Given the description of an element on the screen output the (x, y) to click on. 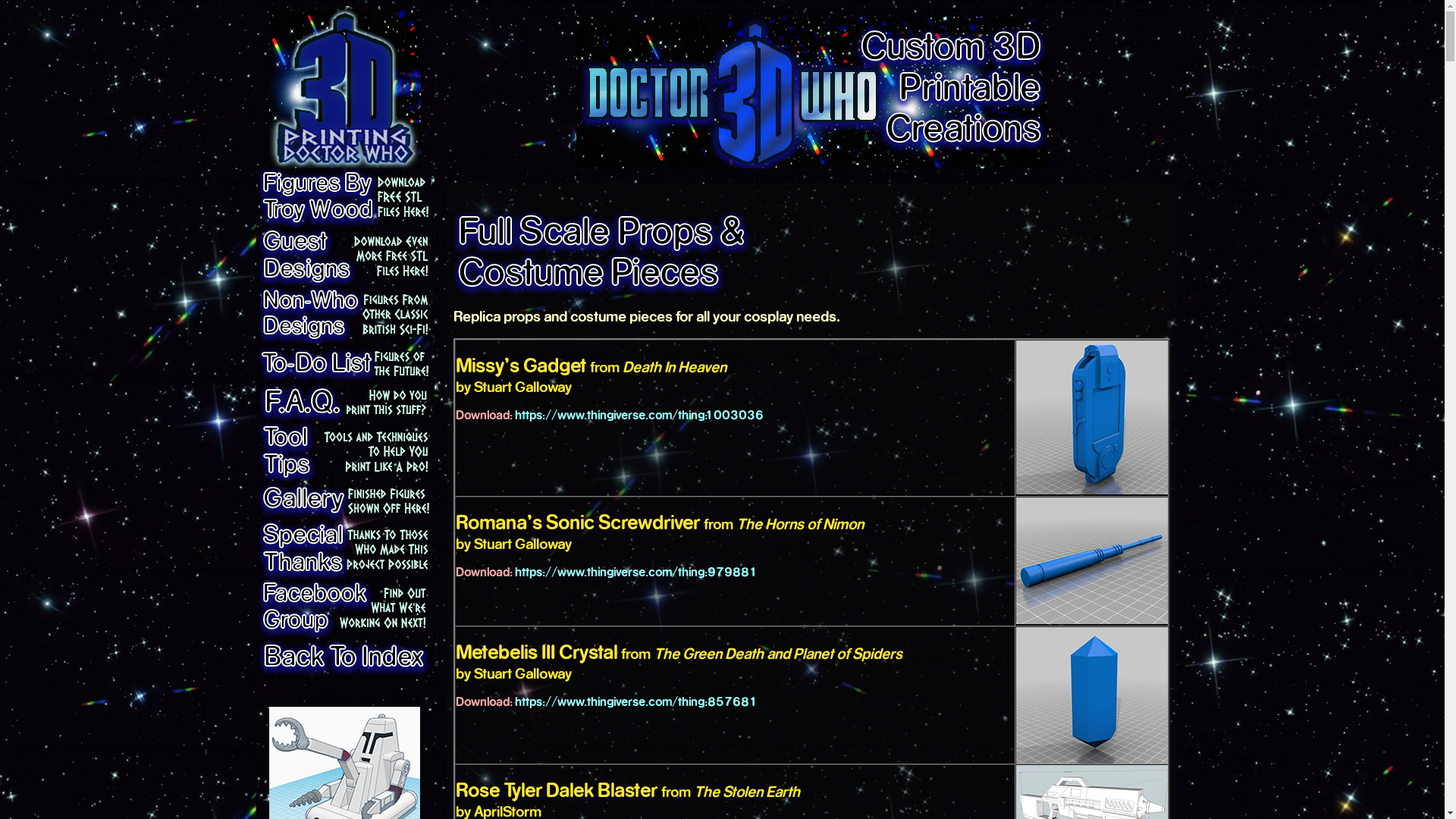
https://www.thingiverse.com/thing:857681 Element type: text (635, 701)
https://www.thingiverse.com/thing:979881 Element type: text (635, 571)
https://www.thingiverse.com/thing:1003036 Element type: text (638, 414)
